Given the description of an element on the screen output the (x, y) to click on. 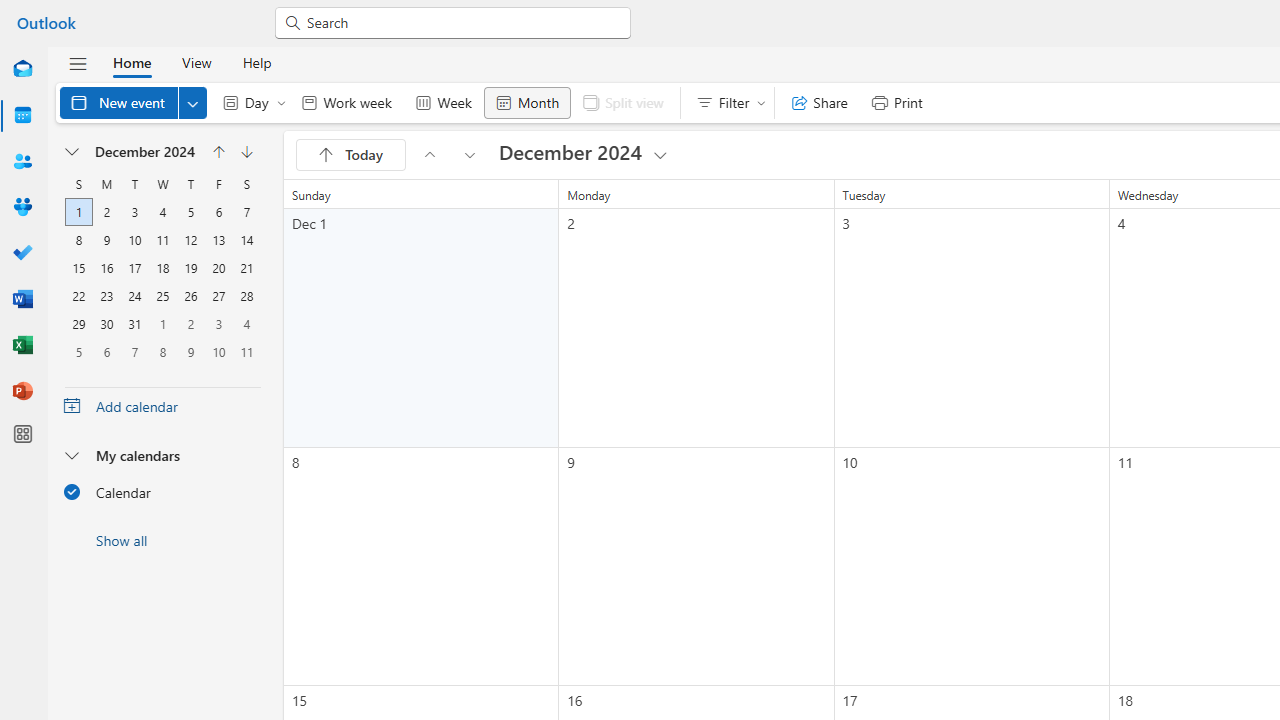
Mail (22, 69)
16, December, 2024 (107, 268)
25, December, 2024 (162, 296)
Go to today August 27, 2024 (350, 154)
December 2024, select to change the month (144, 152)
Class: weekRow-730 (163, 351)
Day (249, 102)
11, December, 2024 (162, 240)
System (10, 11)
14, December, 2024 (246, 240)
31, December, 2024 (134, 323)
4, December, 2024 (163, 211)
Tuesday (134, 183)
